Given the description of an element on the screen output the (x, y) to click on. 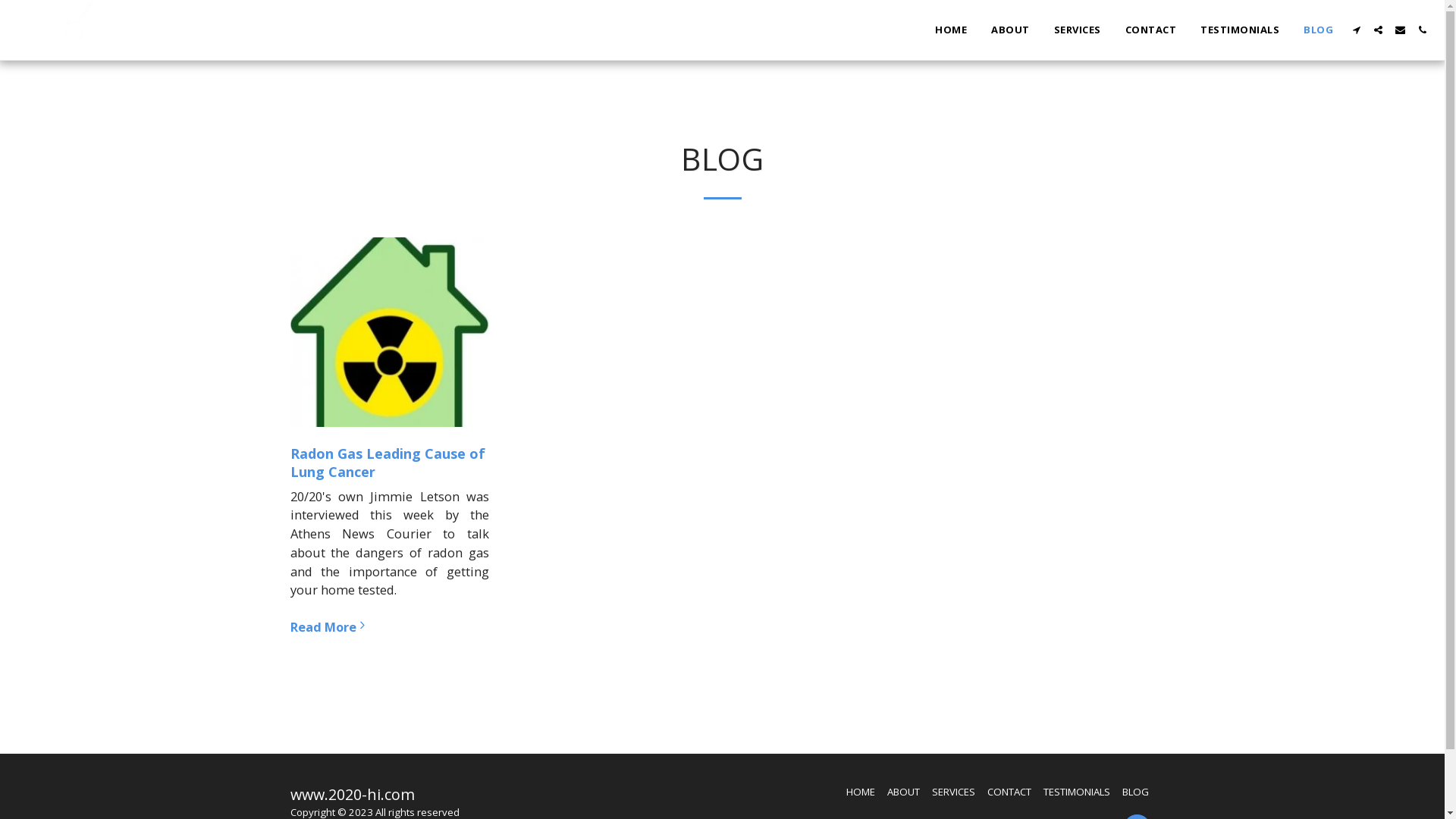
TESTIMONIALS Element type: text (1239, 29)
HOME Element type: text (860, 791)
  Element type: text (1356, 29)
TESTIMONIALS Element type: text (1076, 791)
  Element type: text (1400, 29)
CONTACT Element type: text (1150, 29)
ABOUT Element type: text (903, 791)
HOME Element type: text (950, 29)
SERVICES Element type: text (1076, 29)
ABOUT Element type: text (1010, 29)
BLOG Element type: text (1135, 791)
BLOG Element type: text (1318, 29)
Read More
  Element type: text (389, 627)
Radon Gas Leading Cause of Lung Cancer Element type: text (386, 462)
CONTACT Element type: text (1009, 791)
  Element type: text (1422, 29)
  Element type: text (1378, 29)
SERVICES Element type: text (952, 791)
